Given the description of an element on the screen output the (x, y) to click on. 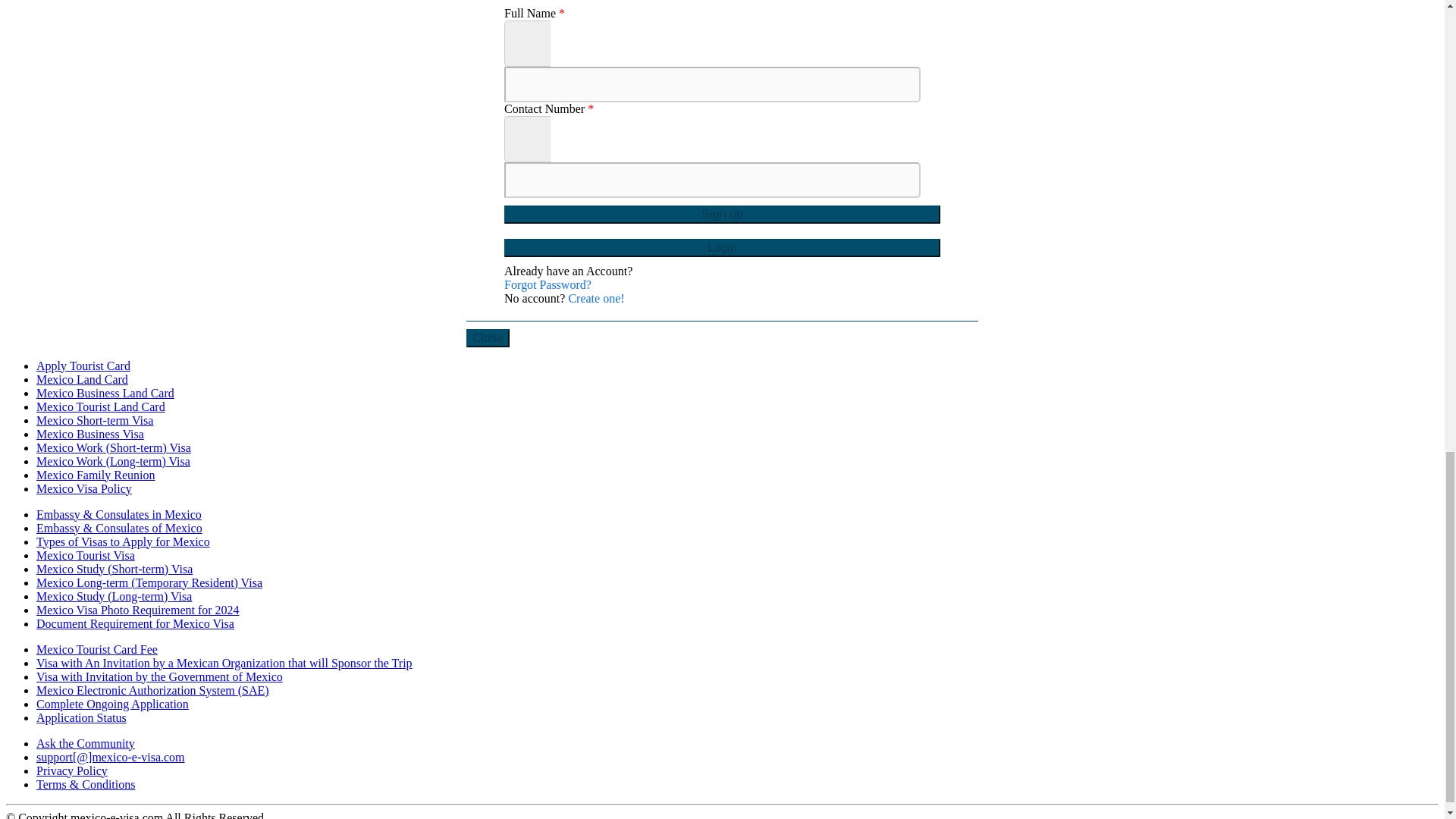
Mexico Visa Photo Requirement for 2024 (138, 609)
Apply Tourist Card (83, 365)
Mexico Short-term Visa (94, 420)
Close (487, 338)
Mexico Family Reunion (95, 474)
Mexico Land Card (82, 379)
Apply Tourist Card (83, 365)
Mexico Visa Policy (84, 488)
Mexico Business Land Card (105, 392)
Forgot Password? (547, 284)
Mexico Visa Policy (84, 488)
Mexico Tourist Visa (85, 554)
Mexico Family Reunion (95, 474)
Types of Visas to Apply for Mexico (122, 541)
Login (721, 248)
